Given the description of an element on the screen output the (x, y) to click on. 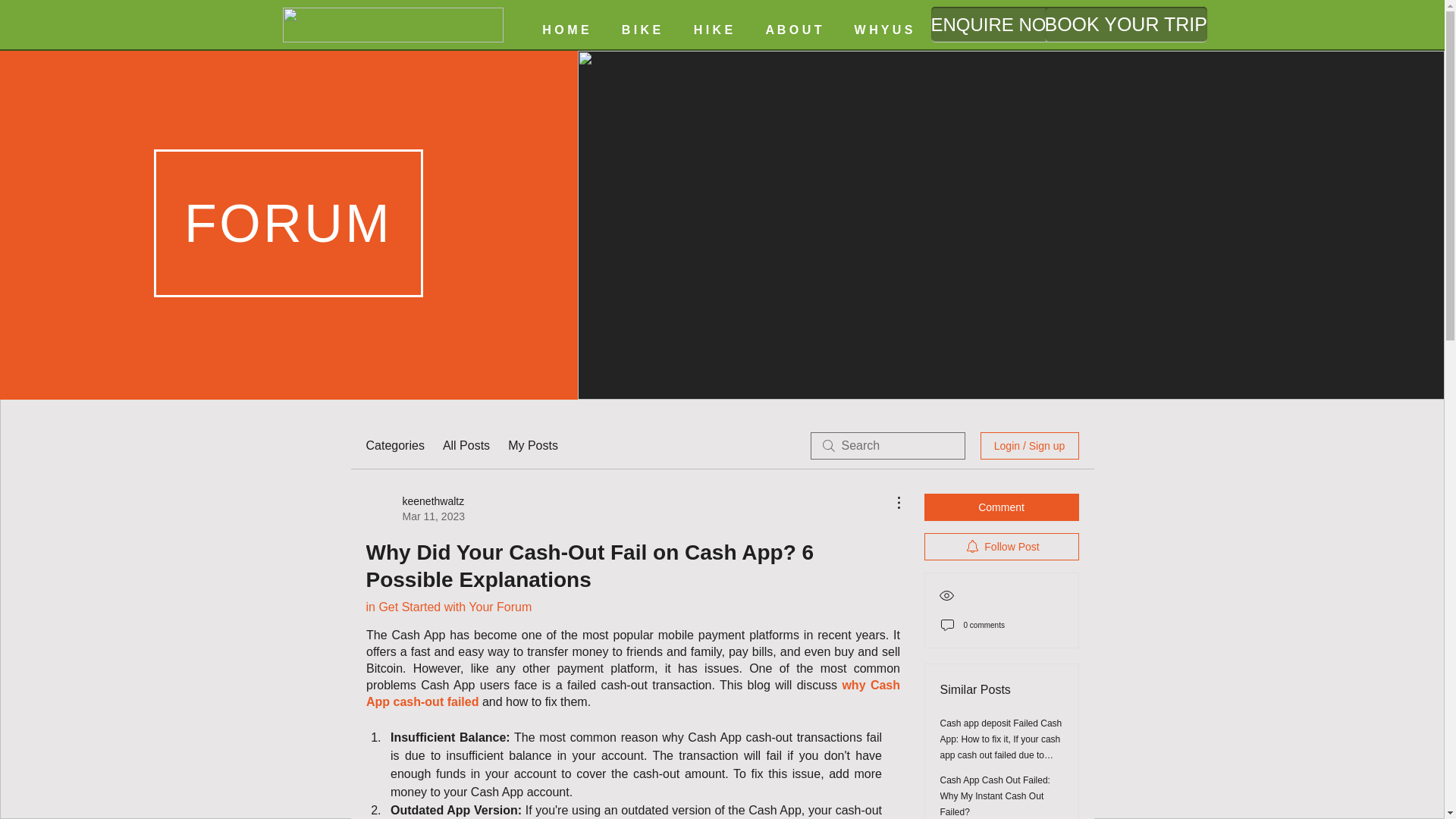
Comment (1000, 506)
why Cash App cash-out failed (633, 693)
My Posts (532, 445)
Follow Post (1000, 546)
in Get Started with Your Forum (448, 606)
A B O U T (793, 29)
All Posts (465, 445)
Categories (394, 445)
W H Y U S (882, 29)
